Given the description of an element on the screen output the (x, y) to click on. 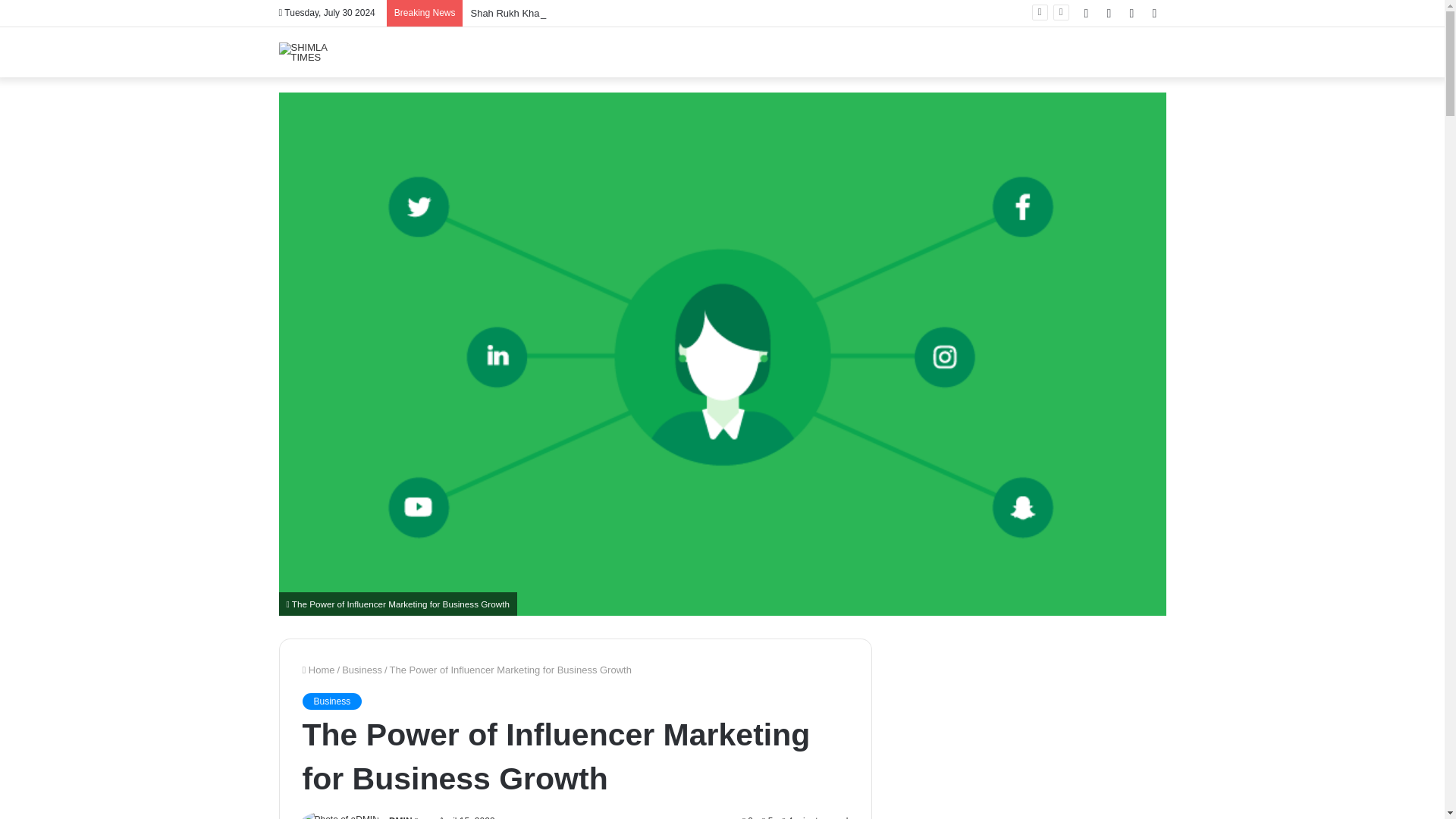
Business (361, 669)
Business (331, 701)
aDMIN (398, 817)
Home (317, 669)
aDMIN (398, 817)
SHIMLA TIMES (317, 52)
